Given the description of an element on the screen output the (x, y) to click on. 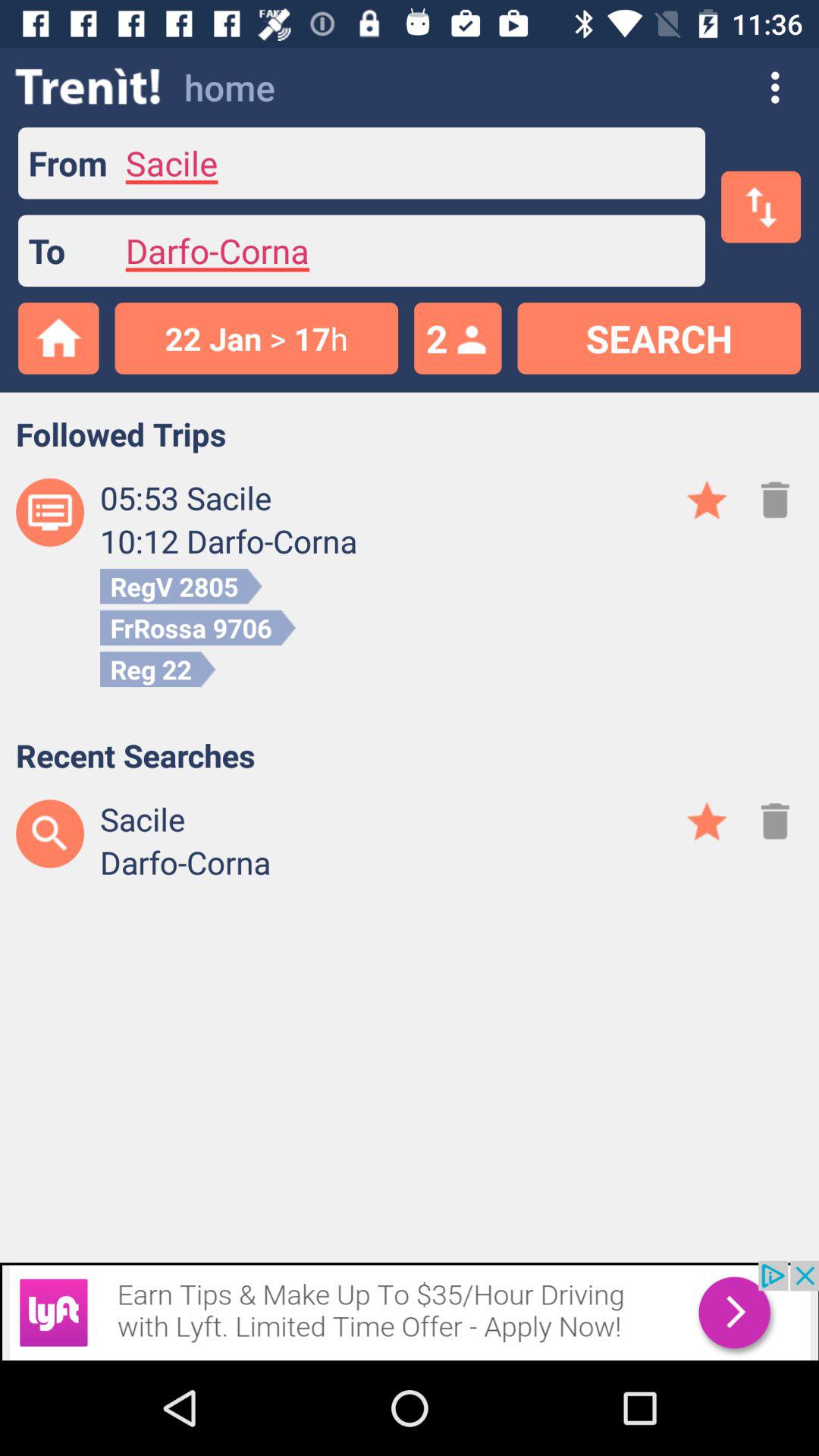
go to the advertisement website (409, 1310)
